Given the description of an element on the screen output the (x, y) to click on. 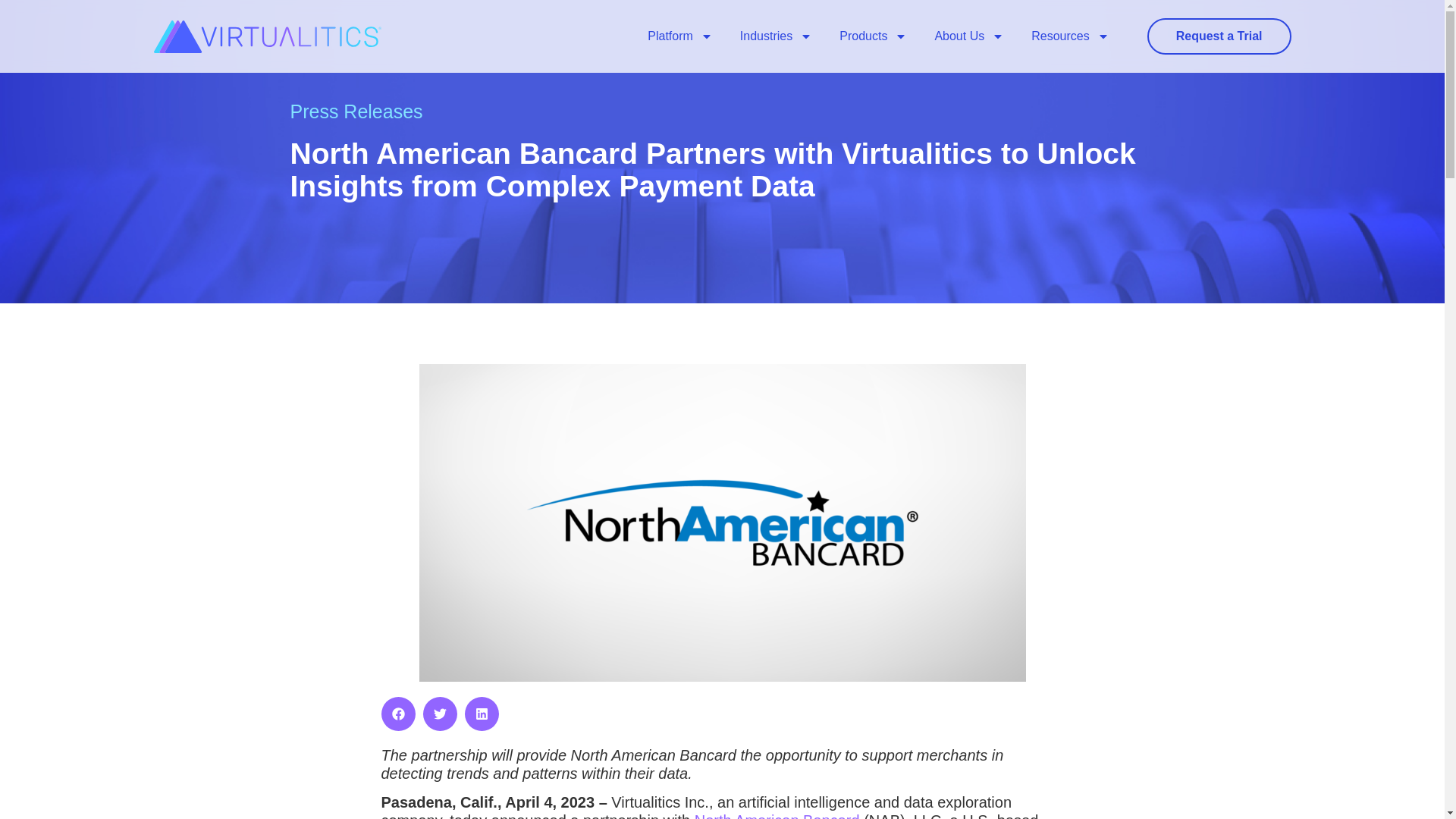
About Us (968, 36)
Products (872, 36)
Platform (679, 36)
Resources (1069, 36)
Request a Trial (1219, 36)
Industries (775, 36)
